Given the description of an element on the screen output the (x, y) to click on. 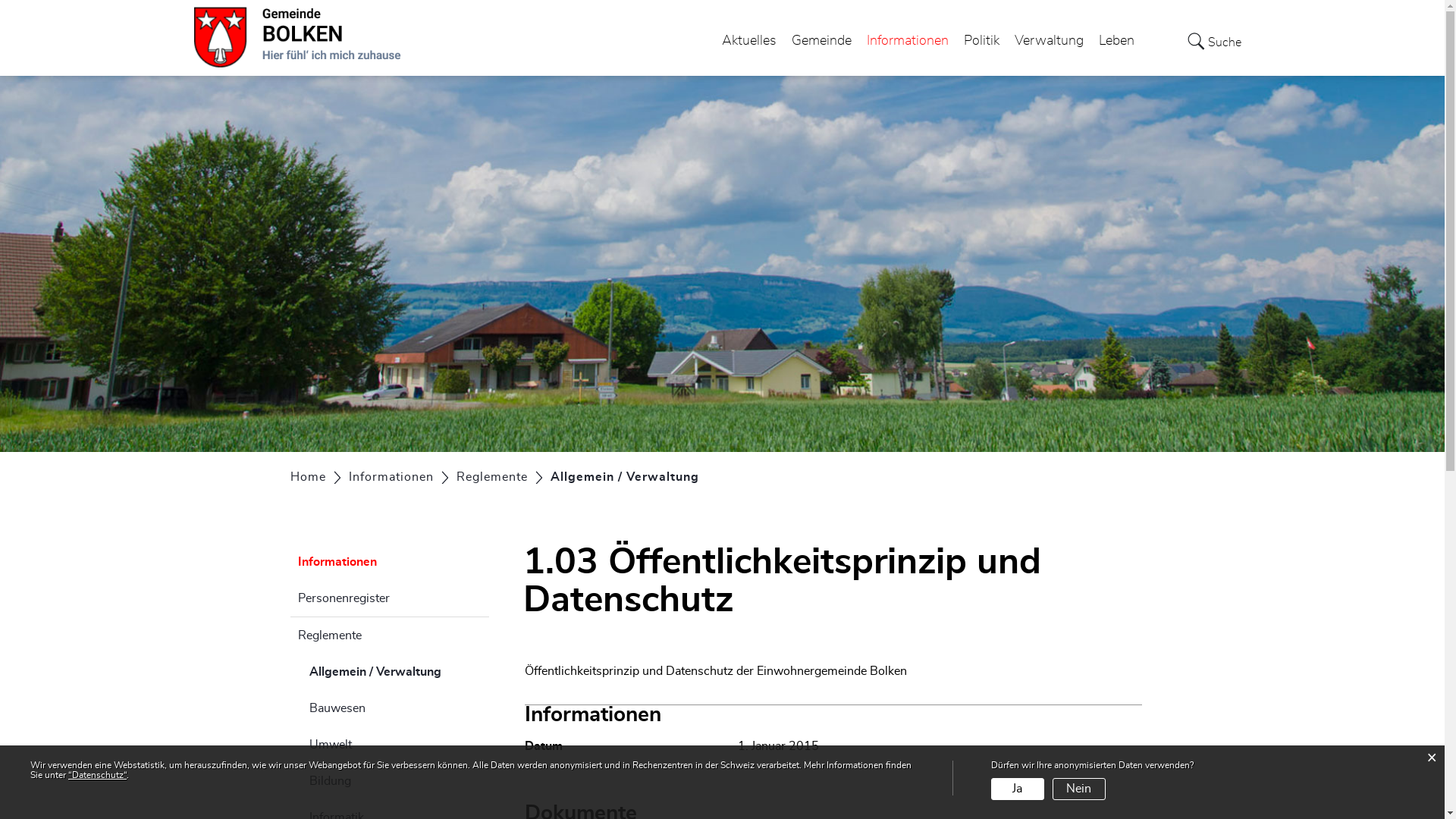
Home Element type: text (307, 476)
Nein Element type: text (1078, 789)
Bauwesen Element type: text (389, 708)
Reglemente Element type: text (491, 476)
zur Startseite Element type: text (0, 0)
Leben Element type: text (1115, 40)
Politik Element type: text (980, 40)
Reglemente Element type: text (389, 635)
Umwelt Element type: text (389, 744)
Verwaltung Element type: text (1048, 40)
Personenregister Element type: text (389, 598)
Informationen Element type: text (390, 476)
Informationen Element type: text (389, 561)
Aktuelles Element type: text (748, 40)
Suche Element type: text (1214, 41)
Gemeinde Element type: text (821, 40)
Ja Element type: text (1017, 789)
Bildung Element type: text (389, 780)
Informationen Element type: text (906, 40)
